Given the description of an element on the screen output the (x, y) to click on. 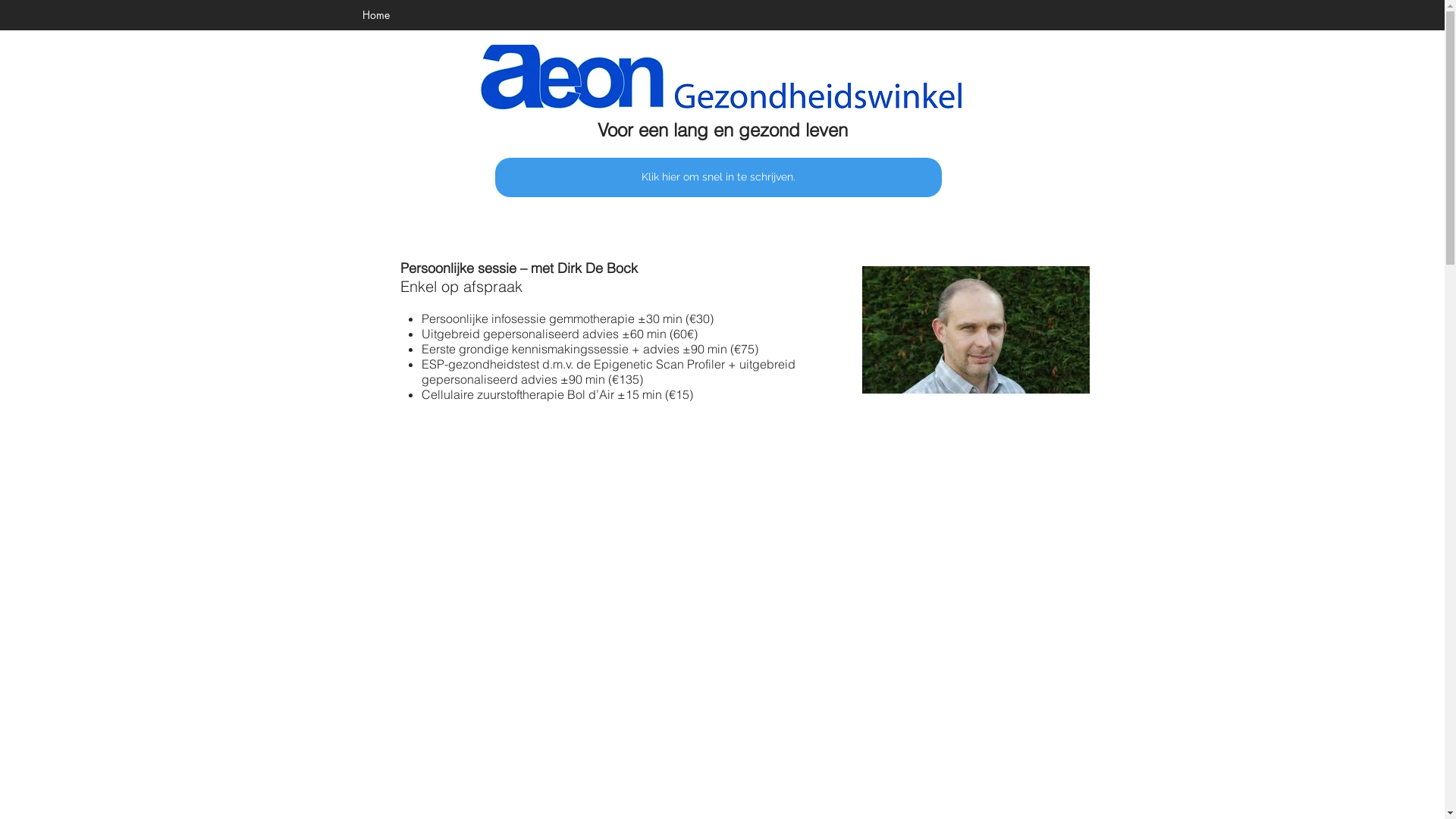
letters+gezondheidswinkel kleur.jpg Element type: hover (721, 77)
Home Element type: text (375, 14)
Klik hier om snel in te schrijven. Element type: text (717, 177)
